Given the description of an element on the screen output the (x, y) to click on. 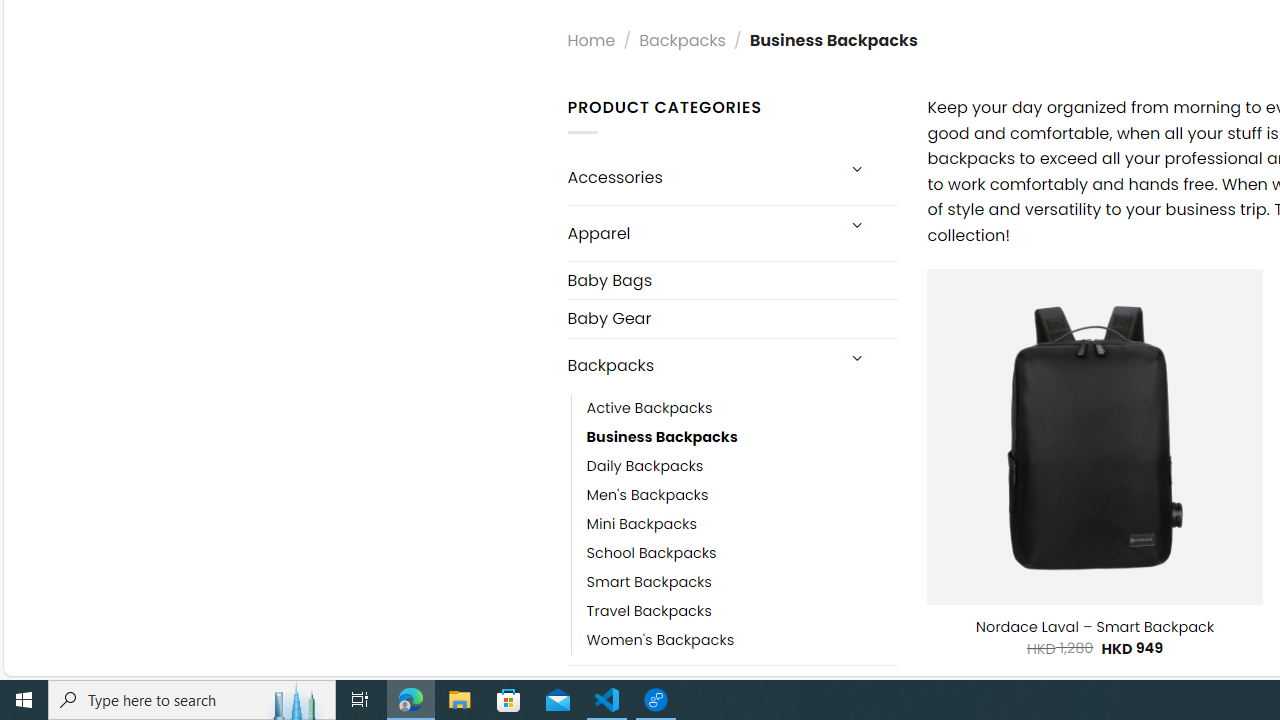
Business Backpacks (742, 436)
Travel Backpacks (648, 610)
Men's Backpacks (742, 494)
Apparel (700, 232)
School Backpacks (742, 552)
Business Backpacks (662, 436)
Active Backpacks (649, 408)
Baby Gear (732, 317)
Men's Backpacks (647, 494)
School Backpacks (651, 552)
Baby Bags (732, 279)
Travel Backpacks (742, 610)
Mini Backpacks (641, 524)
